Given the description of an element on the screen output the (x, y) to click on. 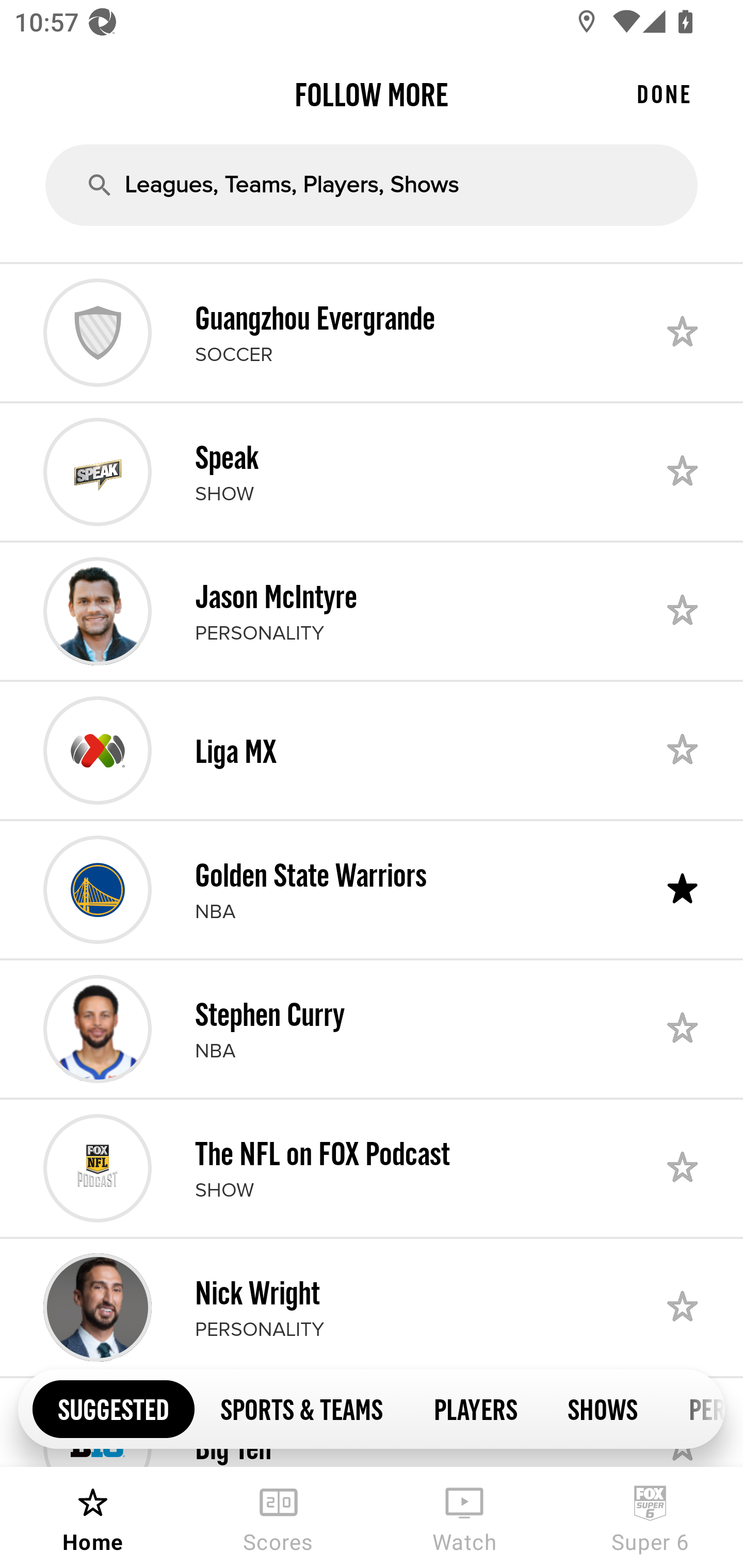
DONE (663, 93)
Leagues, Teams, Players, Shows (371, 184)
Guangzhou Evergrande SOCCER (371, 332)
Speak SHOW (371, 471)
Jason McIntyre PERSONALITY (371, 611)
Liga MX (371, 750)
Golden State Warriors NBA (371, 889)
Stephen Curry NBA (371, 1028)
The NFL on FOX Podcast SHOW (371, 1168)
Nick Wright PERSONALITY (371, 1307)
SPORTS & TEAMS (300, 1408)
PLAYERS (474, 1408)
SHOWS (602, 1408)
Scores (278, 1517)
Watch (464, 1517)
Super 6 (650, 1517)
